Given the description of an element on the screen output the (x, y) to click on. 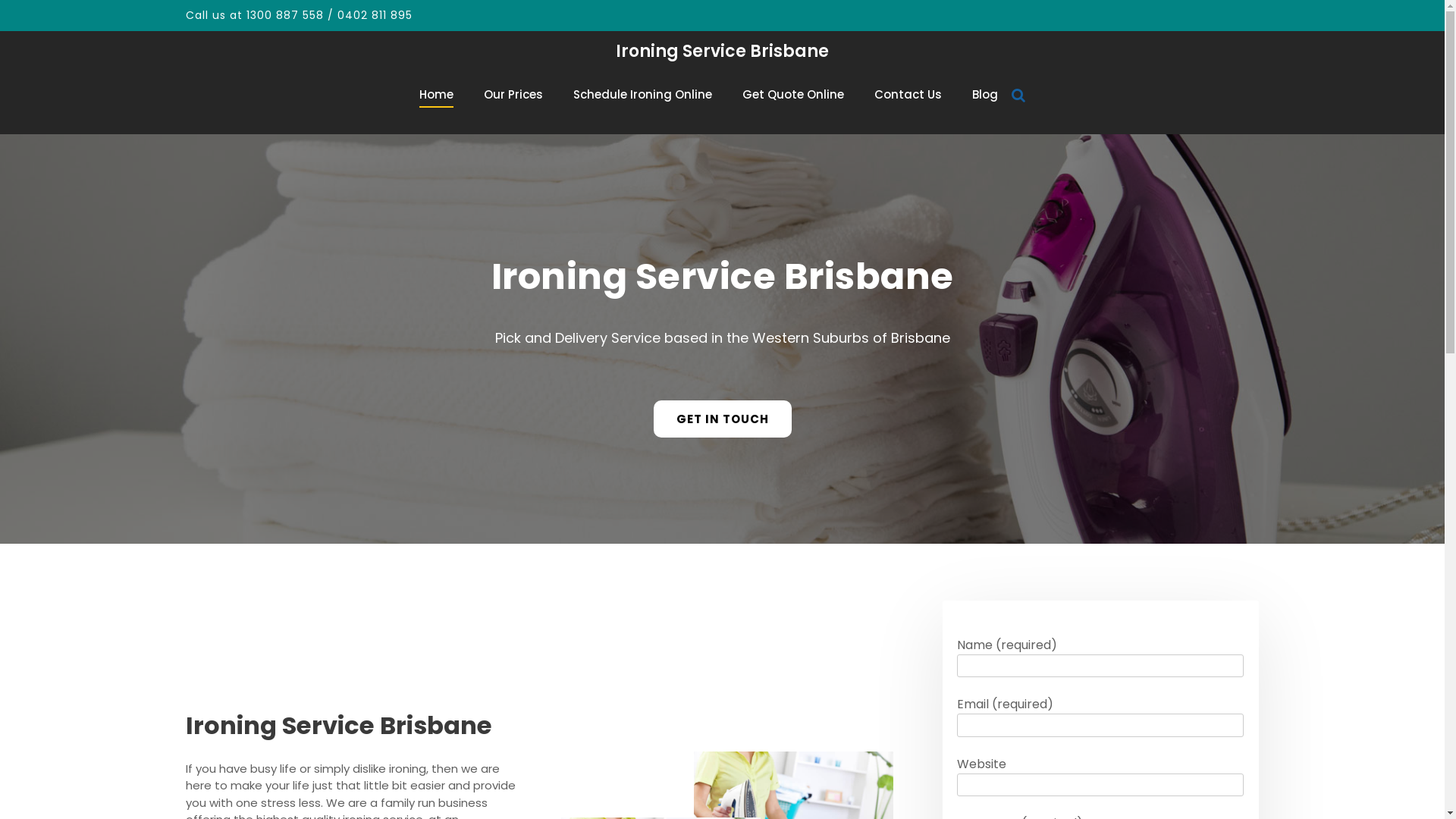
Home Element type: text (436, 94)
Our Prices Element type: text (512, 94)
Schedule Ironing Online Element type: text (642, 94)
Ironing Service Brisbane Element type: text (722, 276)
Get Quote Online Element type: text (793, 94)
Contact Us Element type: text (907, 94)
Blog Element type: text (984, 94)
GET IN TOUCH Element type: text (722, 418)
Ironing Service Brisbane Element type: text (721, 50)
